Given the description of an element on the screen output the (x, y) to click on. 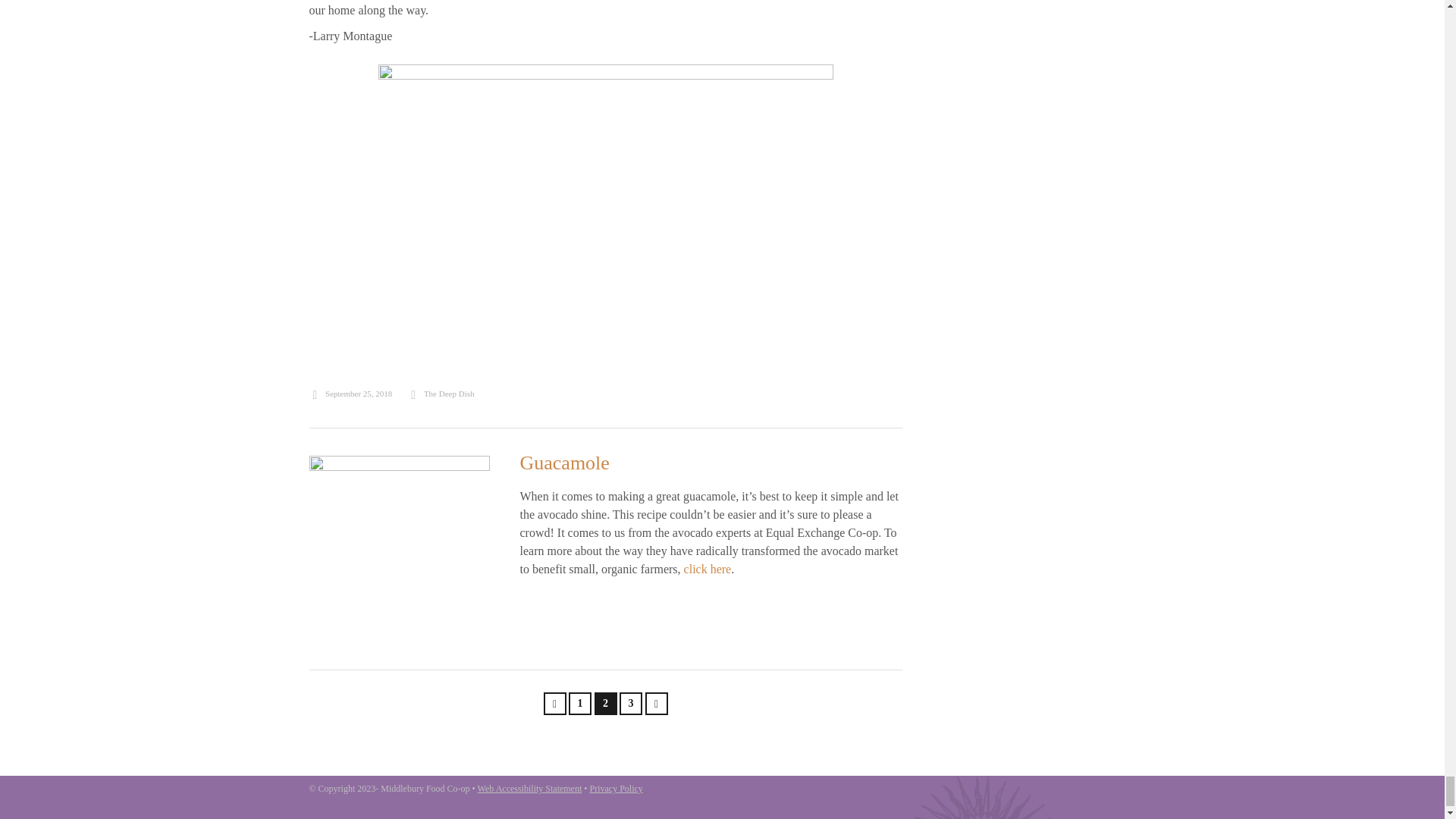
View all posts from September (350, 393)
